Given the description of an element on the screen output the (x, y) to click on. 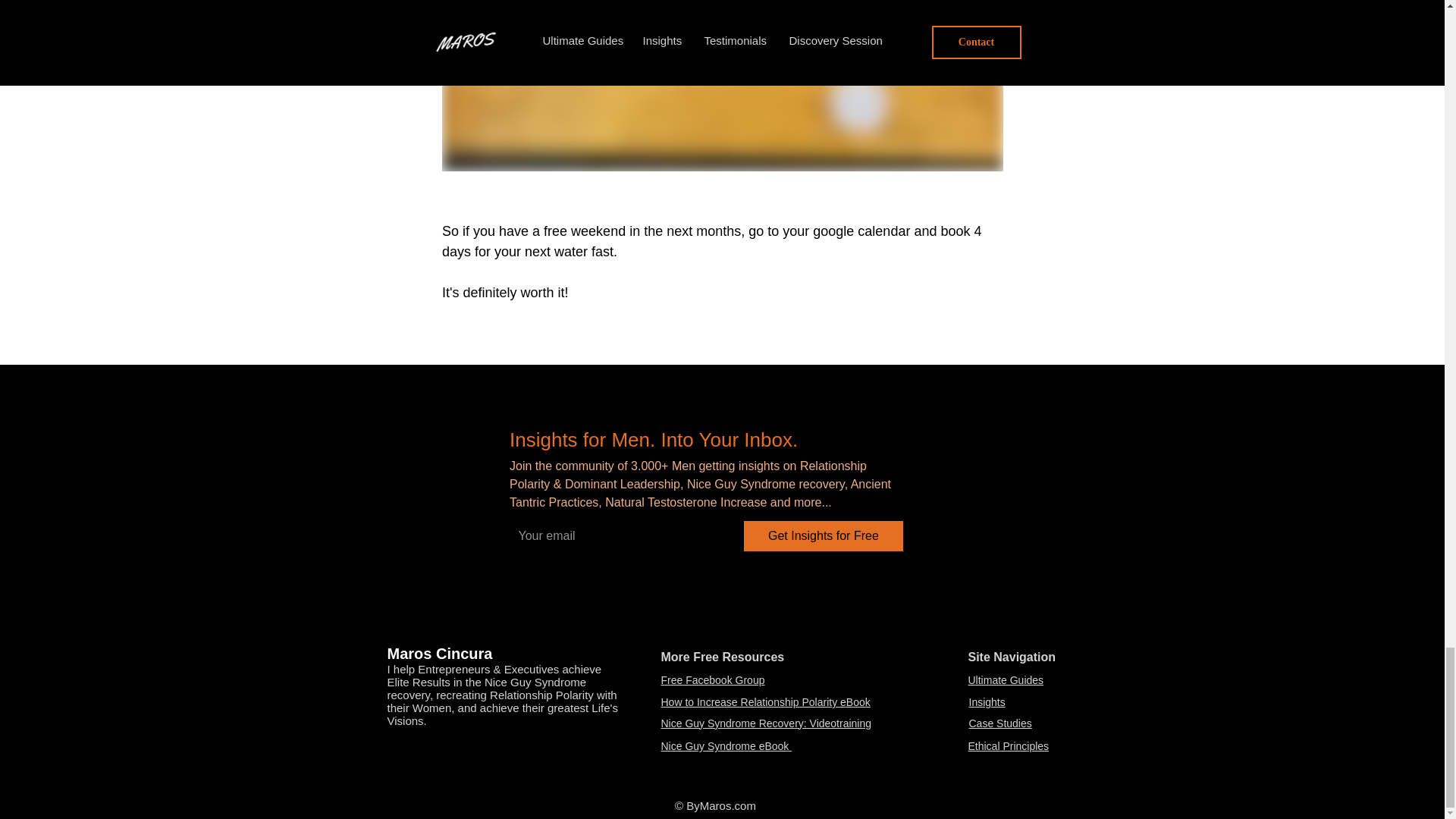
Ultimate Guides (1005, 680)
Nice Guy Syndrome Recovery: Videotraining (766, 723)
Nice Guy Syndrome eBook  (726, 746)
Free Facebook Group (713, 680)
Case Studies (1000, 723)
Insights (987, 702)
Ethical Principles (1008, 746)
Get Insights for Free (823, 535)
How to Increase Relationship Polarity eBook (765, 702)
